Given the description of an element on the screen output the (x, y) to click on. 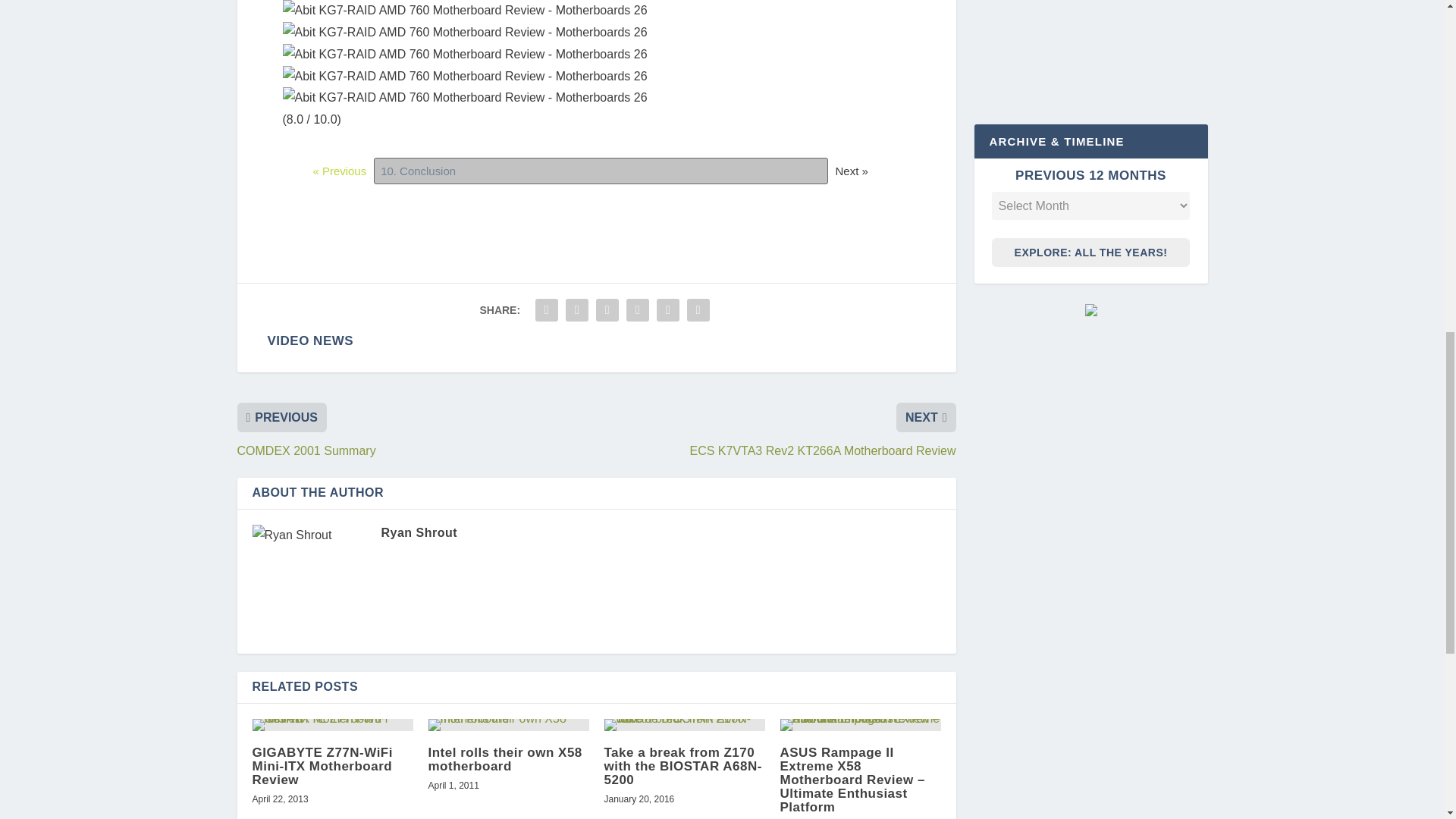
Intel rolls their own X58 motherboard (508, 725)
View all posts by Ryan Shrout (418, 532)
Share "Abit KG7-RAID AMD 760 Motherboard Review" via Twitter (577, 309)
Share "Abit KG7-RAID AMD 760 Motherboard Review" via Print (697, 309)
Share "Abit KG7-RAID AMD 760 Motherboard Review" via Email (667, 309)
GIGABYTE Z77N-WiFi Mini-ITX Motherboard Review (331, 725)
Share "Abit KG7-RAID AMD 760 Motherboard Review" via Tumblr (607, 309)
